Given the description of an element on the screen output the (x, y) to click on. 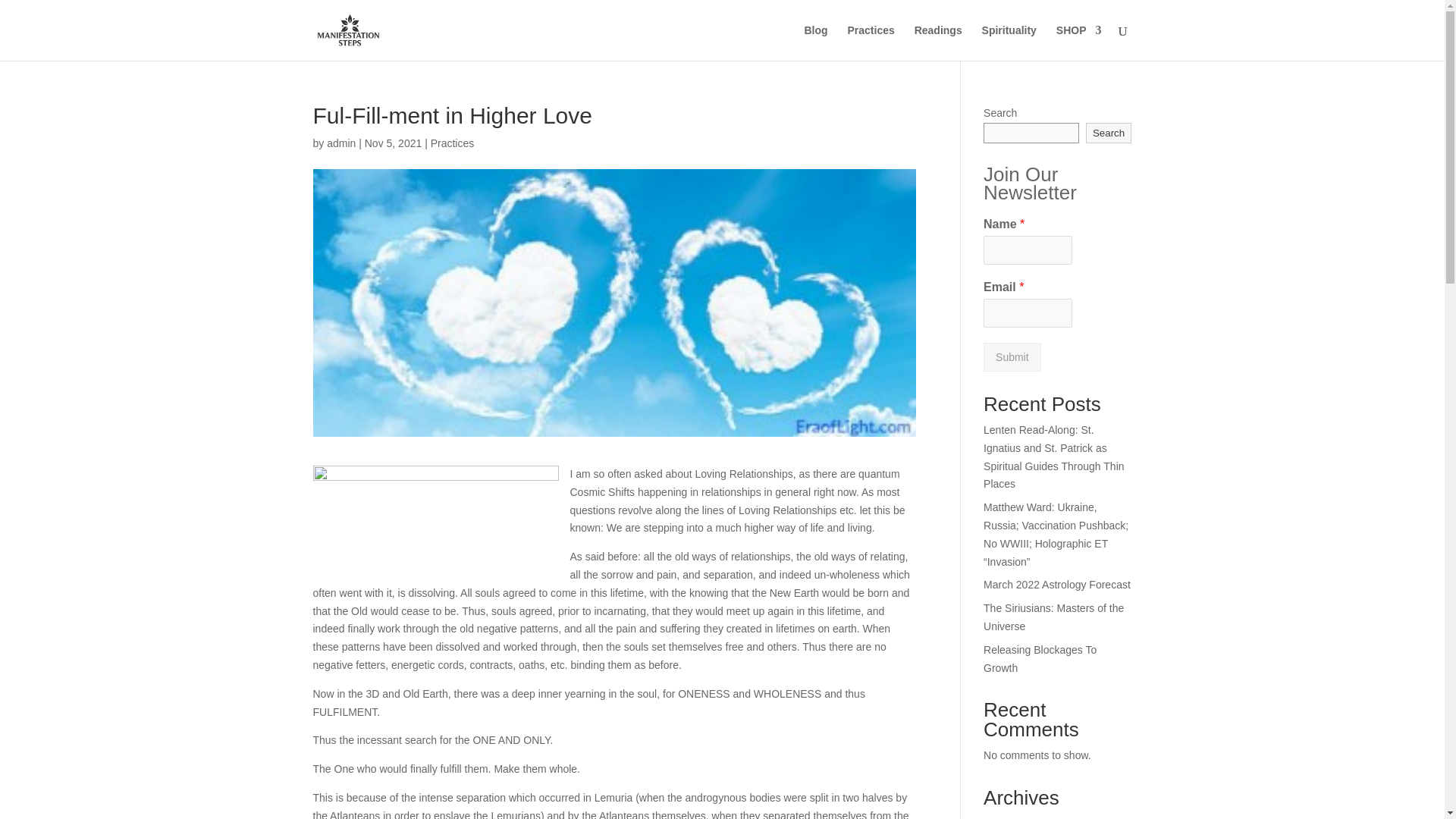
Spirituality (1008, 42)
admin (340, 143)
March 2022 (1011, 818)
SHOP (1079, 42)
Submit (1012, 357)
March 2022 Astrology Forecast (1057, 584)
Posts by admin (340, 143)
The Siriusians: Masters of the Universe (1054, 616)
Search (1109, 132)
Practices (452, 143)
